Given the description of an element on the screen output the (x, y) to click on. 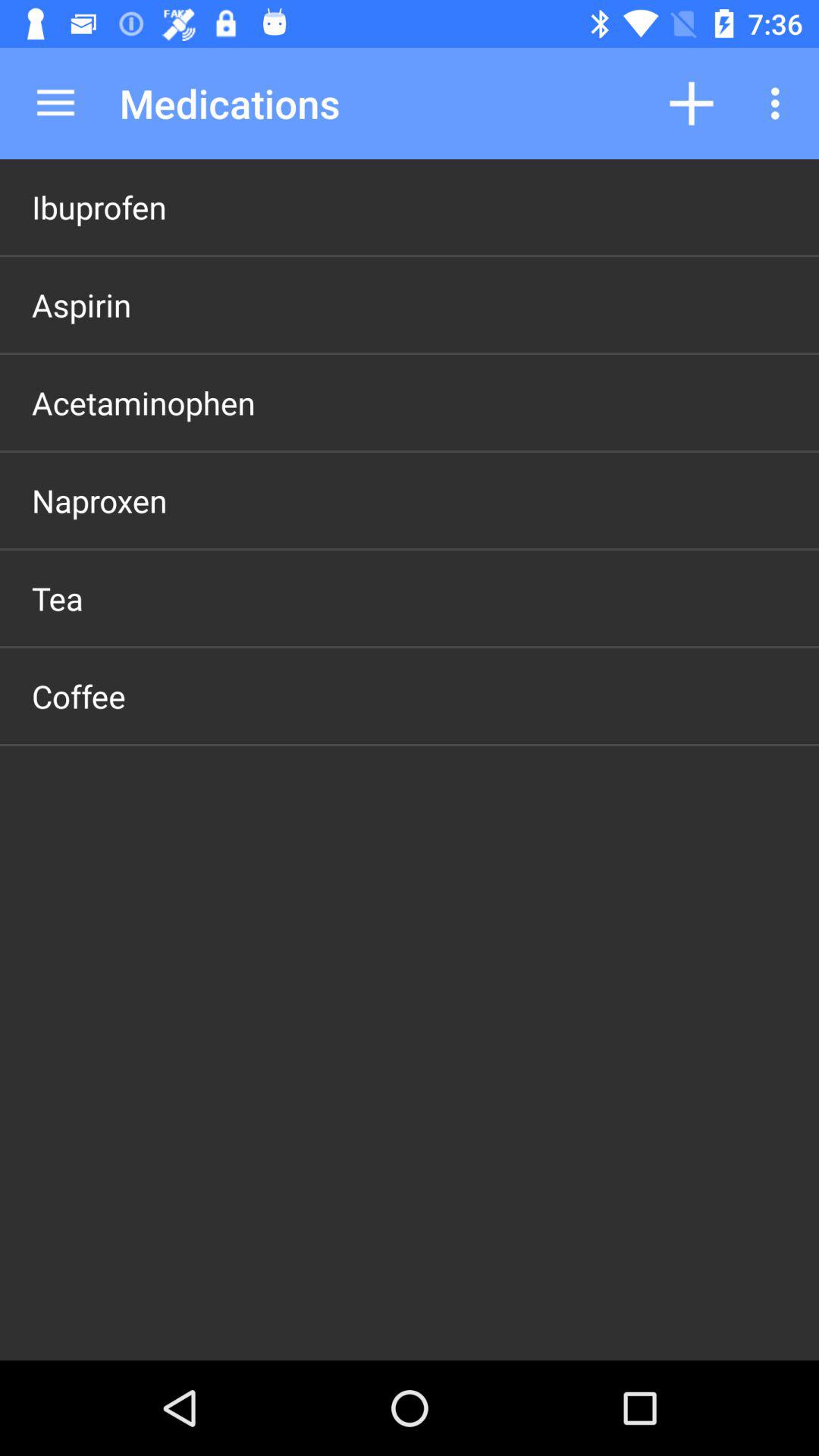
scroll until acetaminophen app (143, 402)
